Given the description of an element on the screen output the (x, y) to click on. 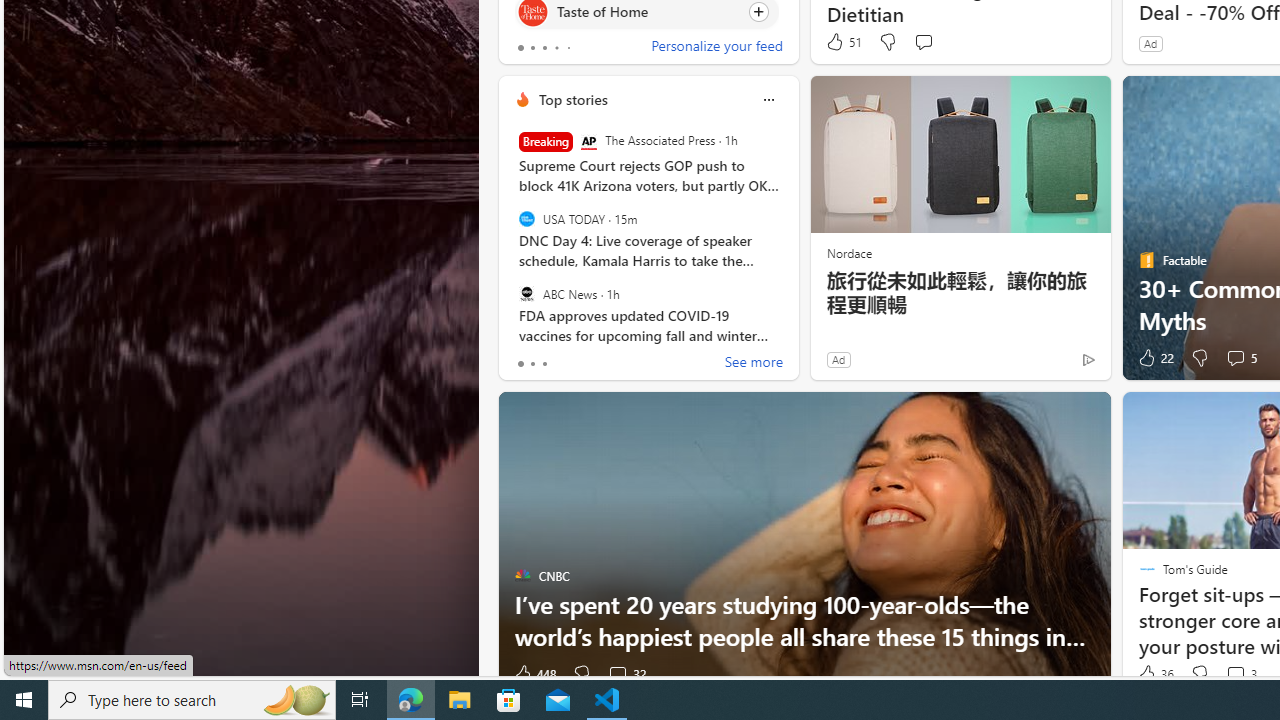
Start the conversation (923, 41)
Personalize your feed (716, 47)
The Associated Press (587, 142)
36 Like (1154, 674)
tab-4 (567, 47)
22 Like (1154, 358)
Class: icon-img (768, 100)
Start the conversation (923, 42)
View comments 3 Comment (1240, 674)
See more (753, 363)
View comments 5 Comment (1240, 358)
tab-2 (543, 363)
Nordace (848, 252)
